Given the description of an element on the screen output the (x, y) to click on. 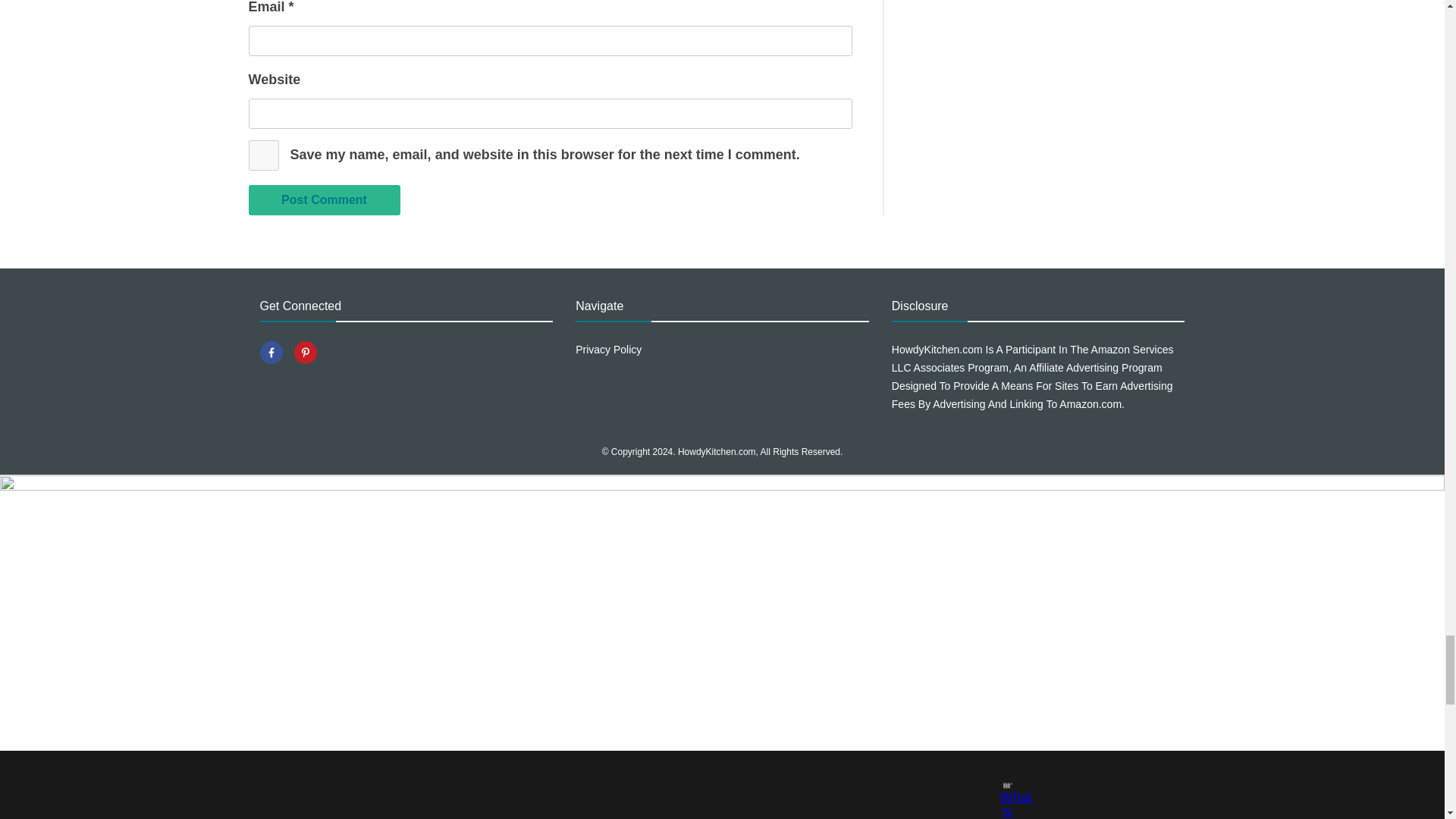
yes (263, 155)
Post Comment (324, 200)
